Given the description of an element on the screen output the (x, y) to click on. 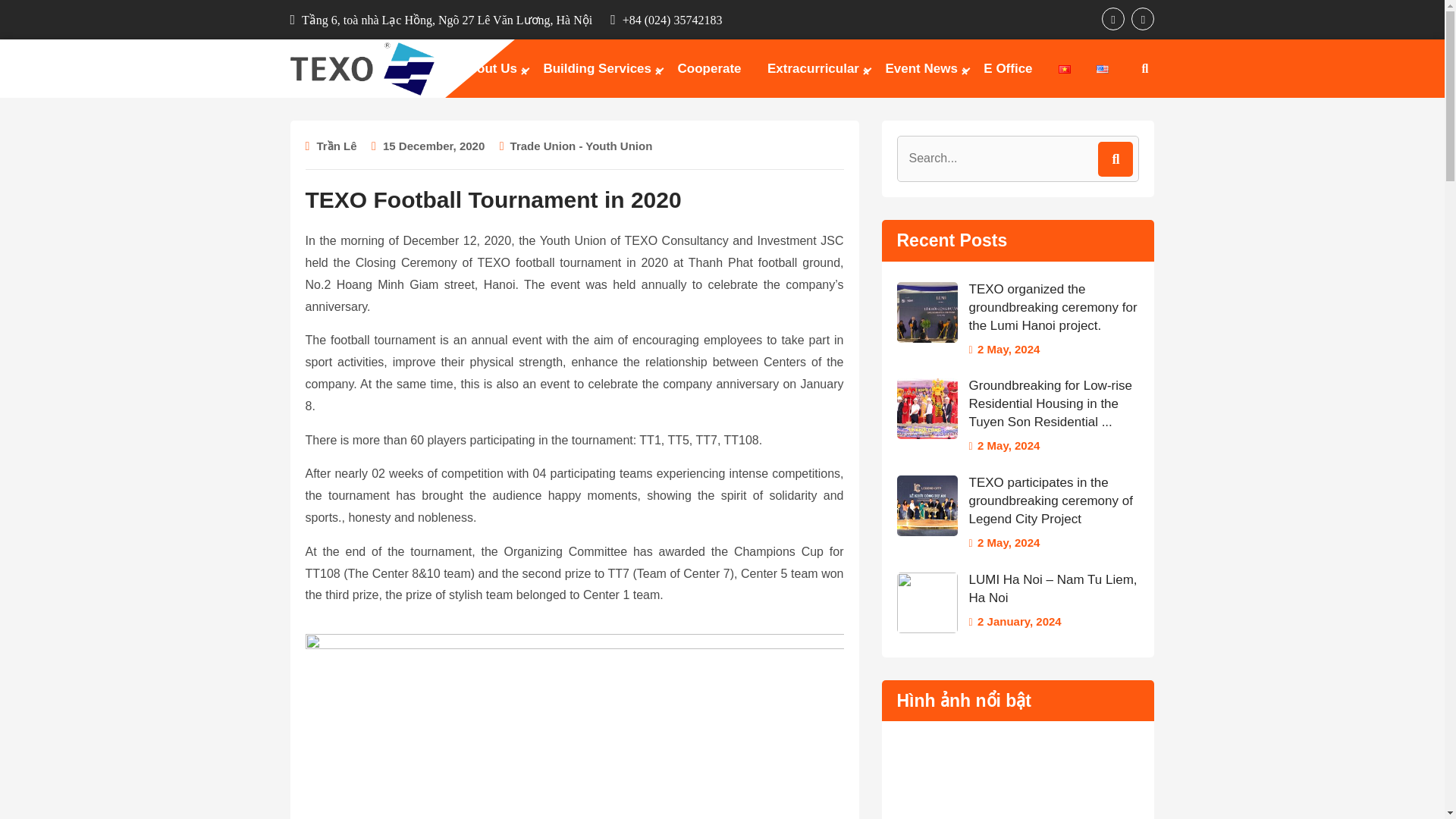
15 December, 2020 (433, 145)
About Us (488, 68)
Extracurricular (812, 68)
Building Services (596, 68)
Cooperate (708, 68)
E Office (1007, 68)
Event News (920, 68)
Trade Union - Youth Union (581, 145)
